Given the description of an element on the screen output the (x, y) to click on. 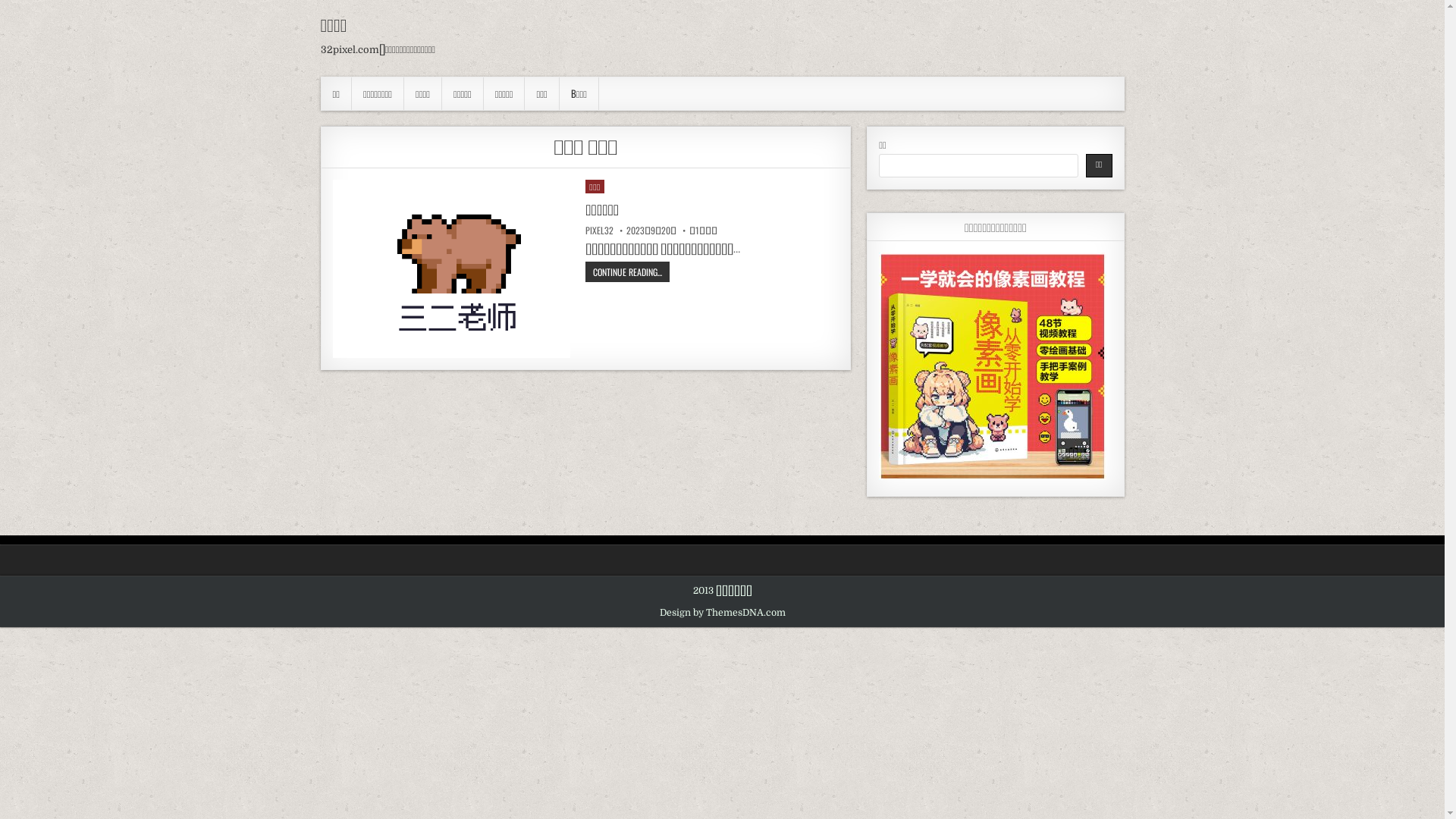
AUTHOR:
PIXEL32 Element type: text (599, 230)
Design by ThemesDNA.com Element type: text (722, 612)
